Given the description of an element on the screen output the (x, y) to click on. 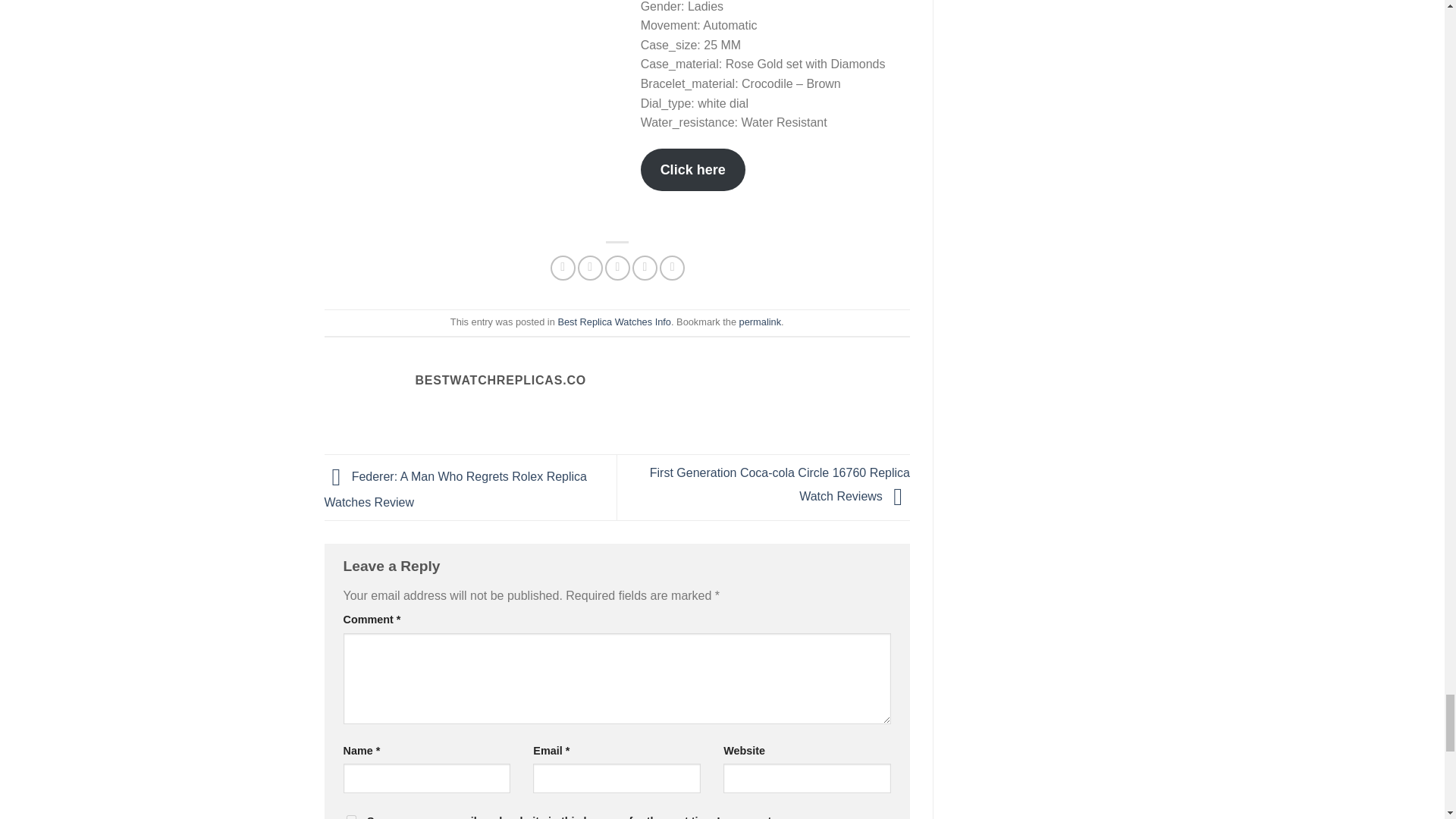
Share on LinkedIn (671, 267)
Share on Twitter (590, 267)
Click here (692, 169)
Email to a Friend (617, 267)
Share on Facebook (562, 267)
Pin on Pinterest (644, 267)
Best Replica Watches Info (614, 321)
yes (350, 816)
